Given the description of an element on the screen output the (x, y) to click on. 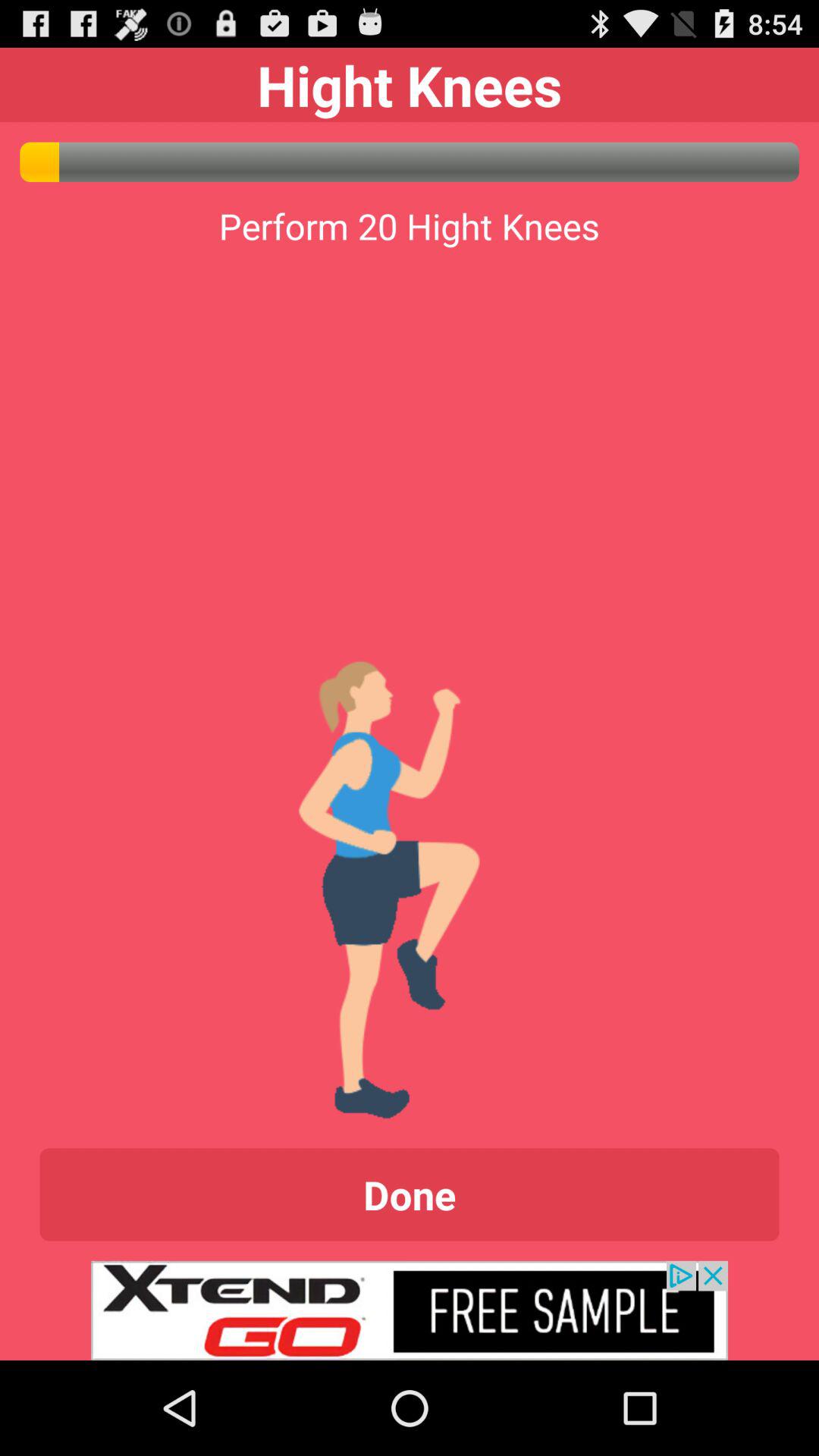
advertising (409, 1310)
